Given the description of an element on the screen output the (x, y) to click on. 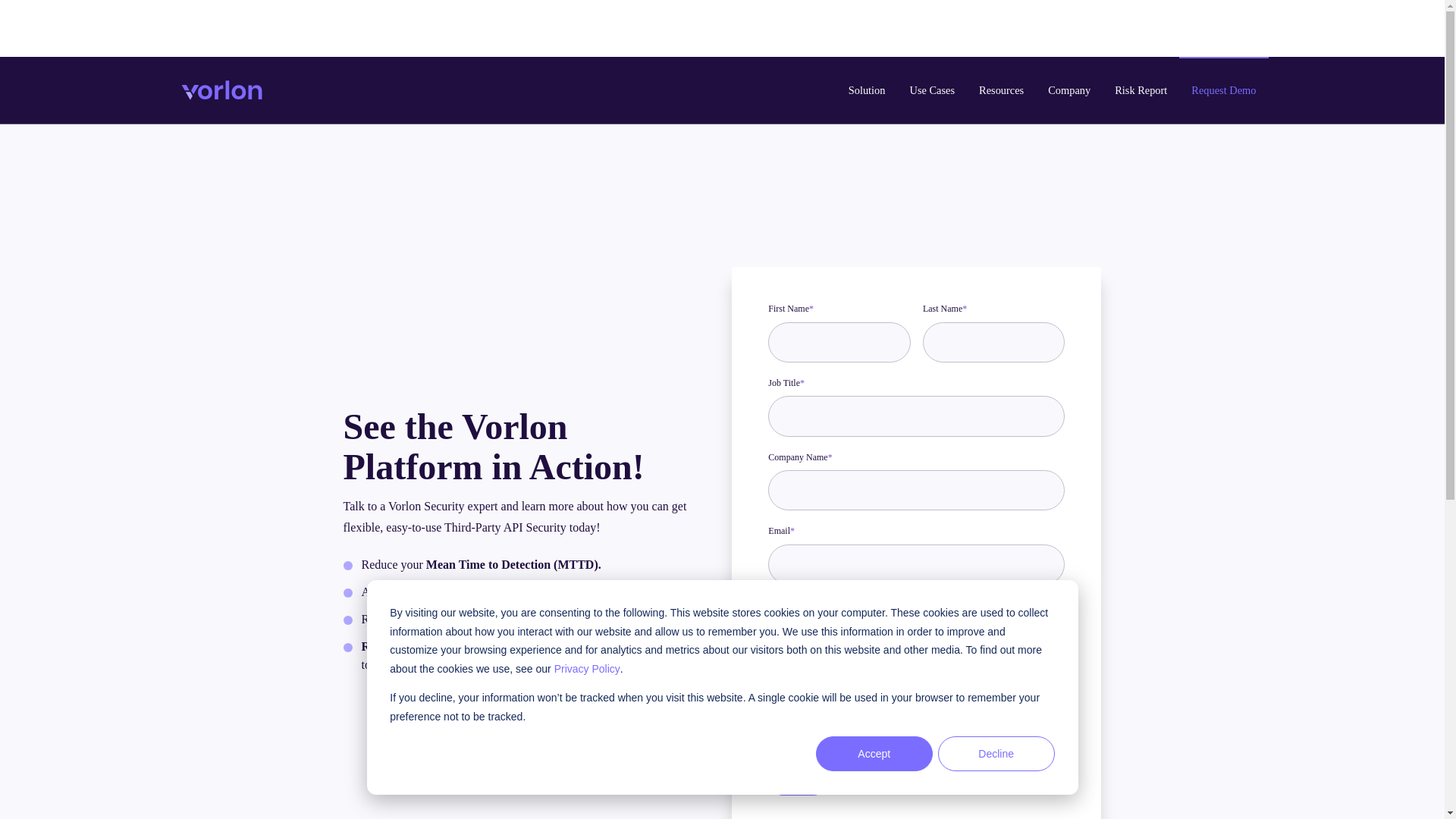
Risk Report (1140, 89)
Privacy Policy (796, 708)
true (774, 686)
Use Cases (933, 89)
Resources (1000, 89)
Submit (798, 779)
Solution (866, 89)
Request Demo (1223, 89)
Company (1068, 89)
Submit (798, 779)
